Given the description of an element on the screen output the (x, y) to click on. 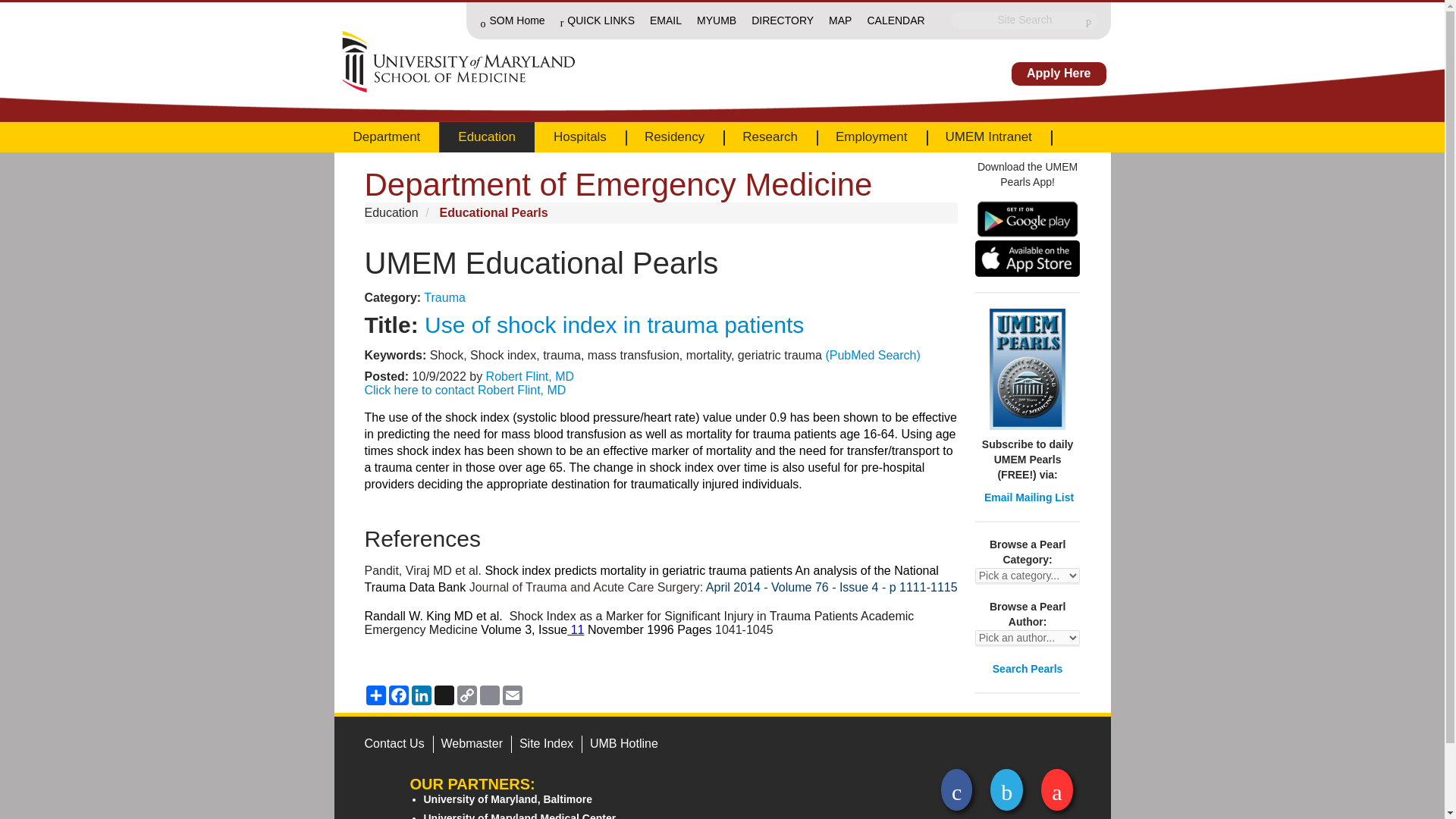
QUICK LINKS (597, 20)
SOM Home (513, 22)
